Given the description of an element on the screen output the (x, y) to click on. 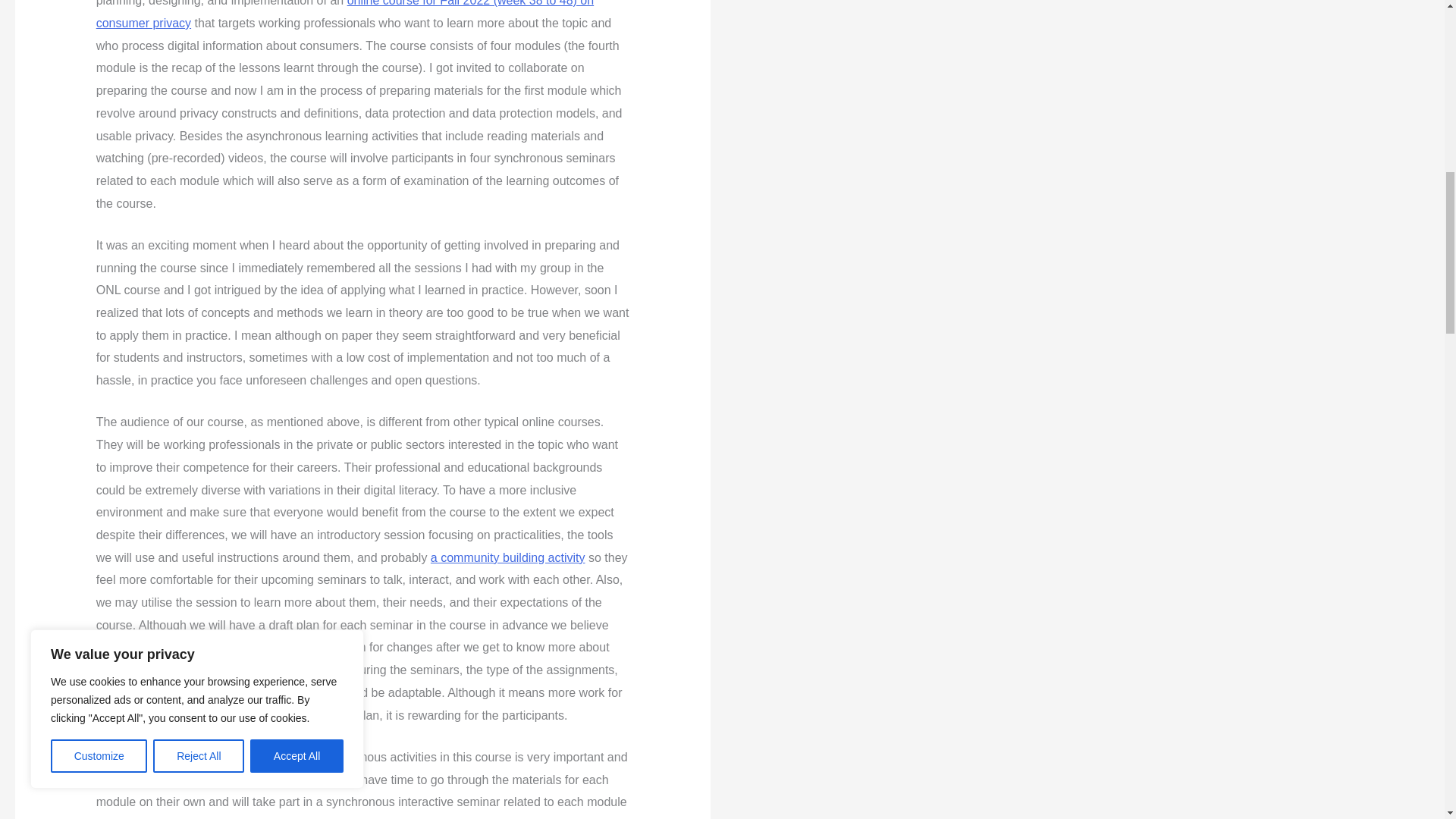
a community building activity (507, 557)
